Given the description of an element on the screen output the (x, y) to click on. 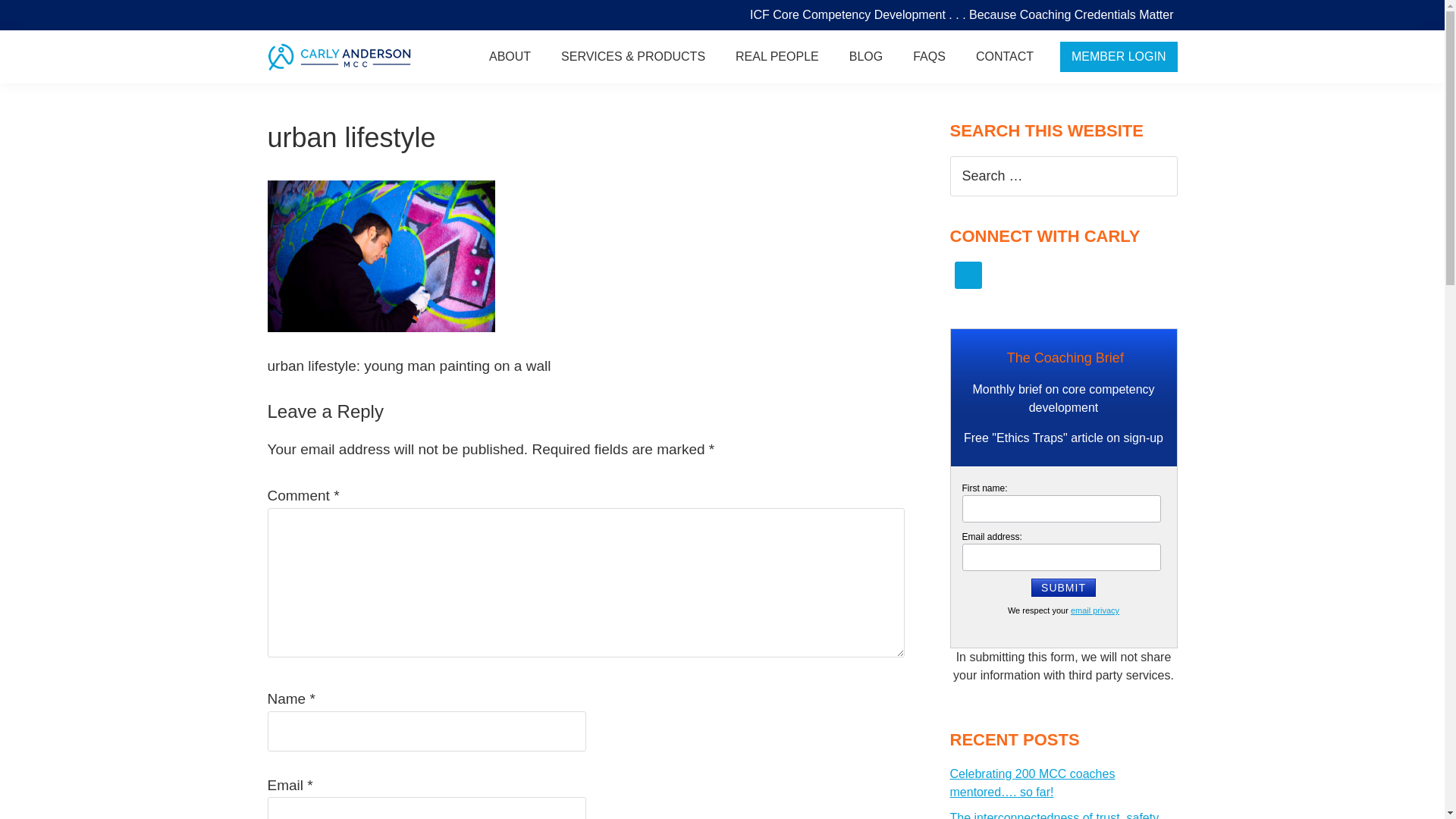
email privacy (1094, 610)
Privacy Policy (1094, 610)
Submit (1063, 587)
FAQS (929, 56)
MEMBER LOGIN (1117, 56)
Submit (1063, 587)
REAL PEOPLE (777, 56)
ABOUT (510, 56)
CONTACT (1004, 56)
BLOG (866, 56)
